Given the description of an element on the screen output the (x, y) to click on. 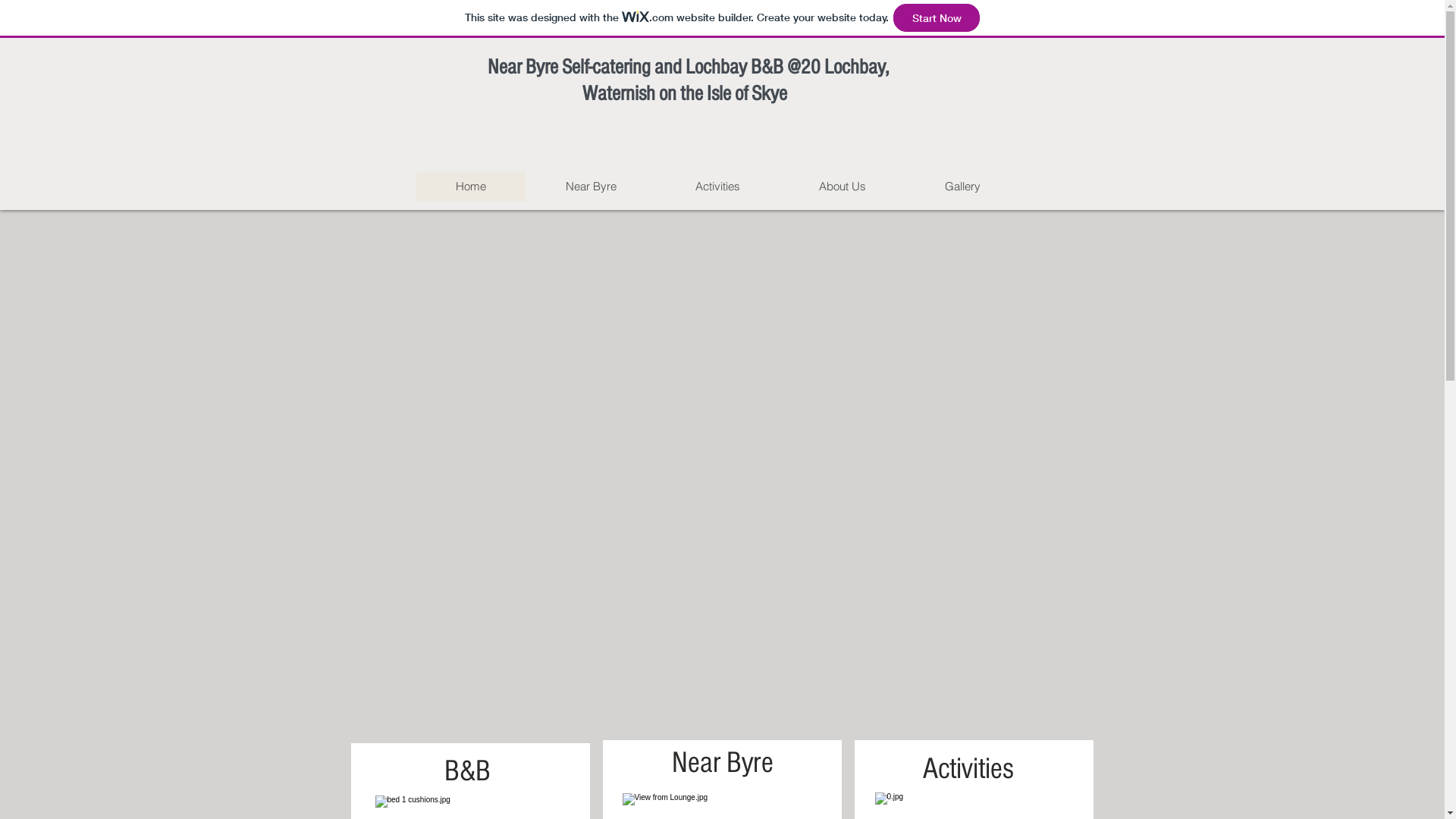
Activities Element type: text (716, 186)
Near Byre Element type: text (589, 186)
Home Element type: text (469, 186)
About Us Element type: text (842, 186)
Gallery Element type: text (962, 186)
